Given the description of an element on the screen output the (x, y) to click on. 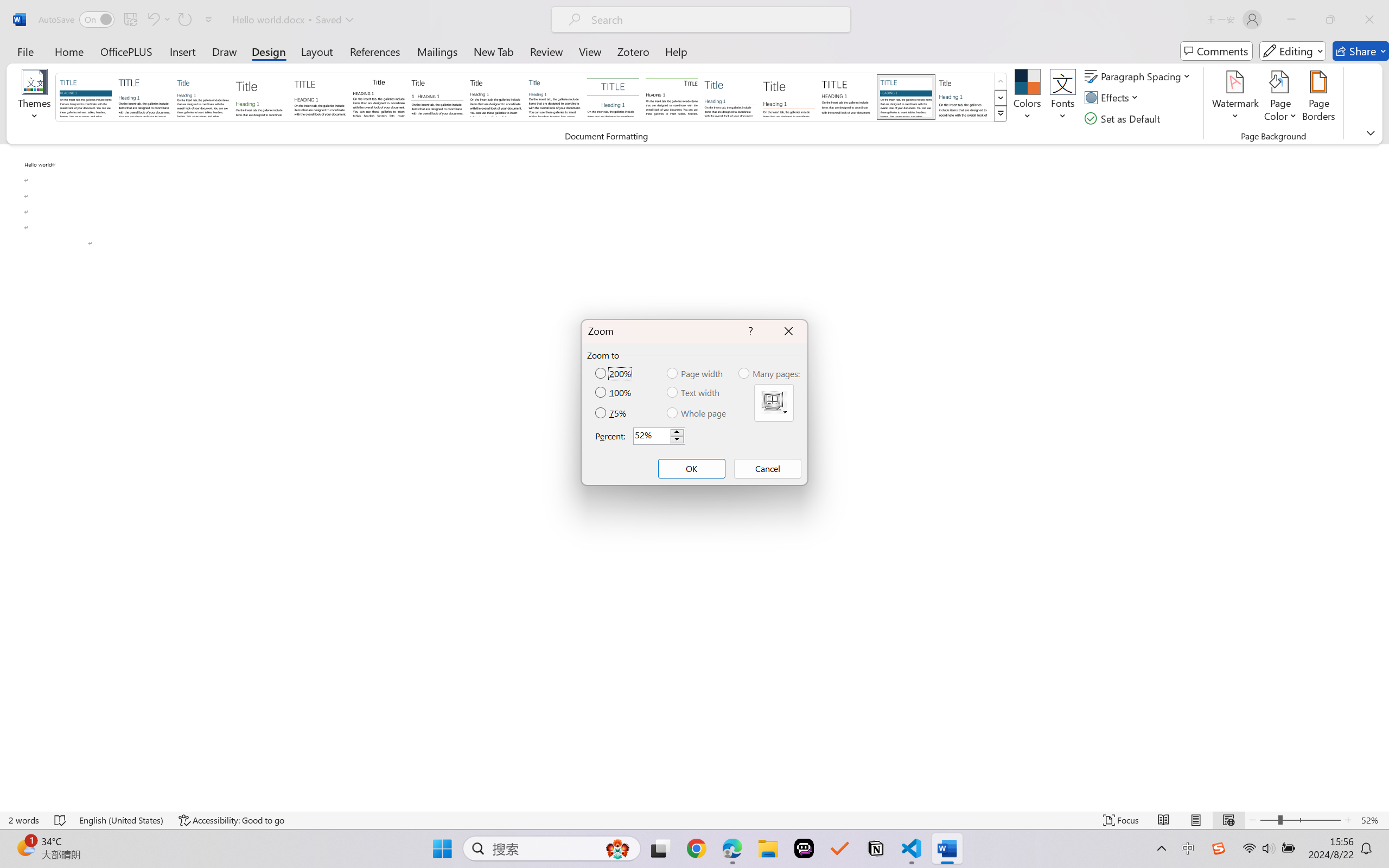
Review (546, 51)
Class: Image (1218, 847)
Basic (Elegant) (144, 96)
Home (69, 51)
Set as Default (1124, 118)
Notion (875, 848)
OfficePLUS (126, 51)
Help (675, 51)
Style Set (1000, 113)
Colors (1027, 97)
Layout (316, 51)
Basic (Simple) (202, 96)
Word Count 2 words (23, 819)
